Given the description of an element on the screen output the (x, y) to click on. 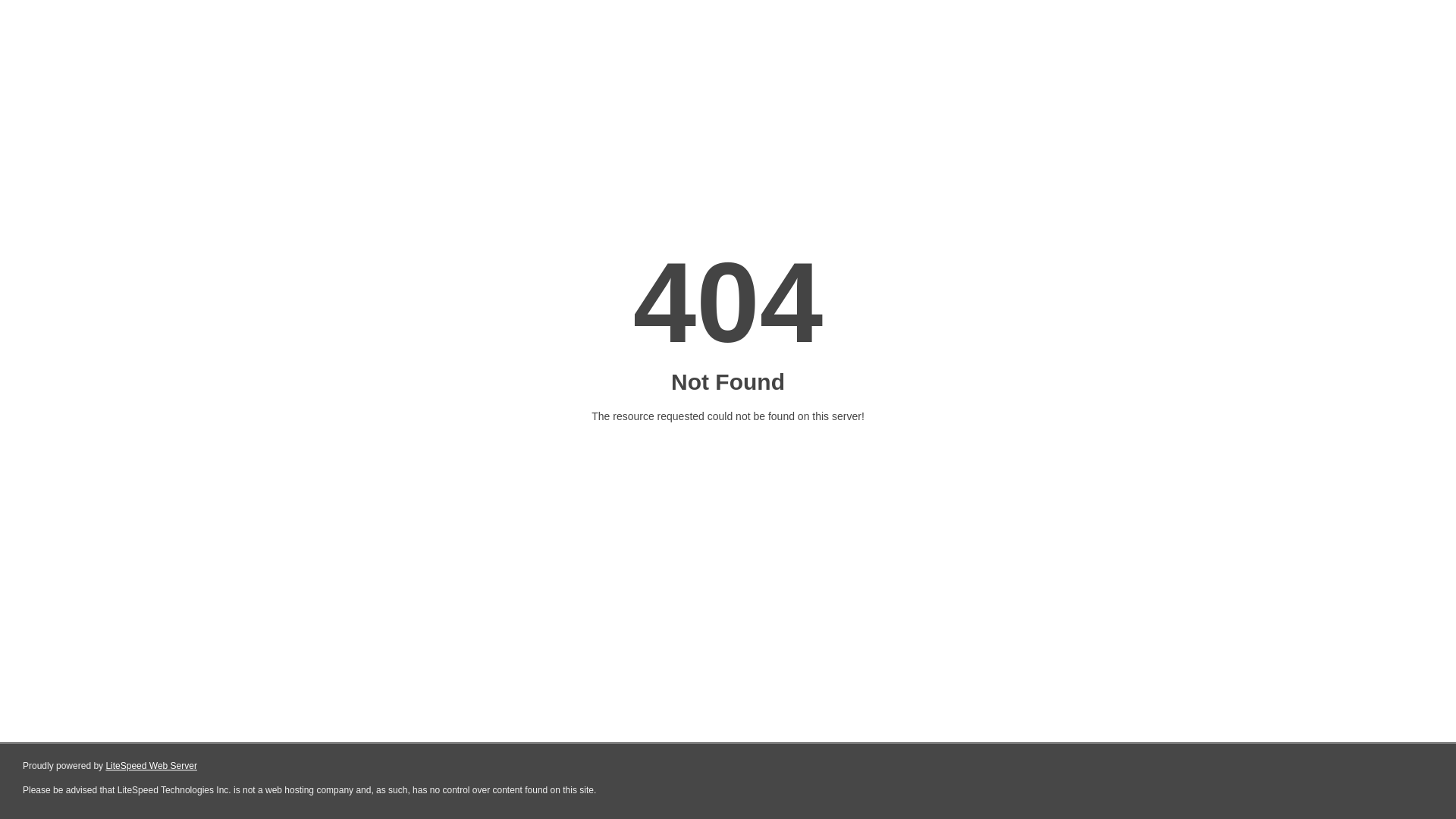
LiteSpeed Web Server Element type: text (151, 765)
